Given the description of an element on the screen output the (x, y) to click on. 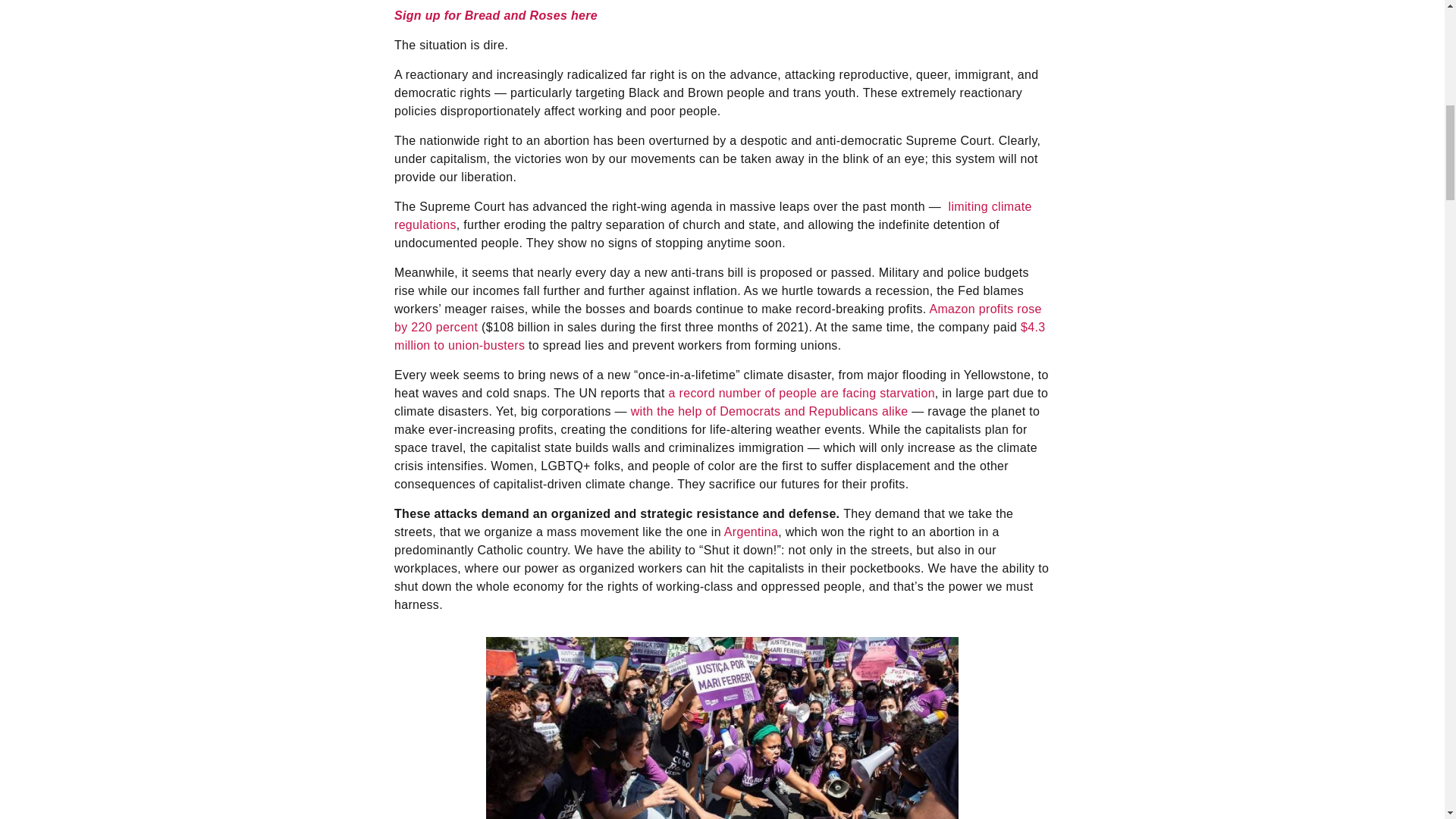
 limiting climate regulations (713, 214)
Amazon profits rose by 220 percent (718, 317)
Sign up for Bread and Roses here (495, 15)
